Given the description of an element on the screen output the (x, y) to click on. 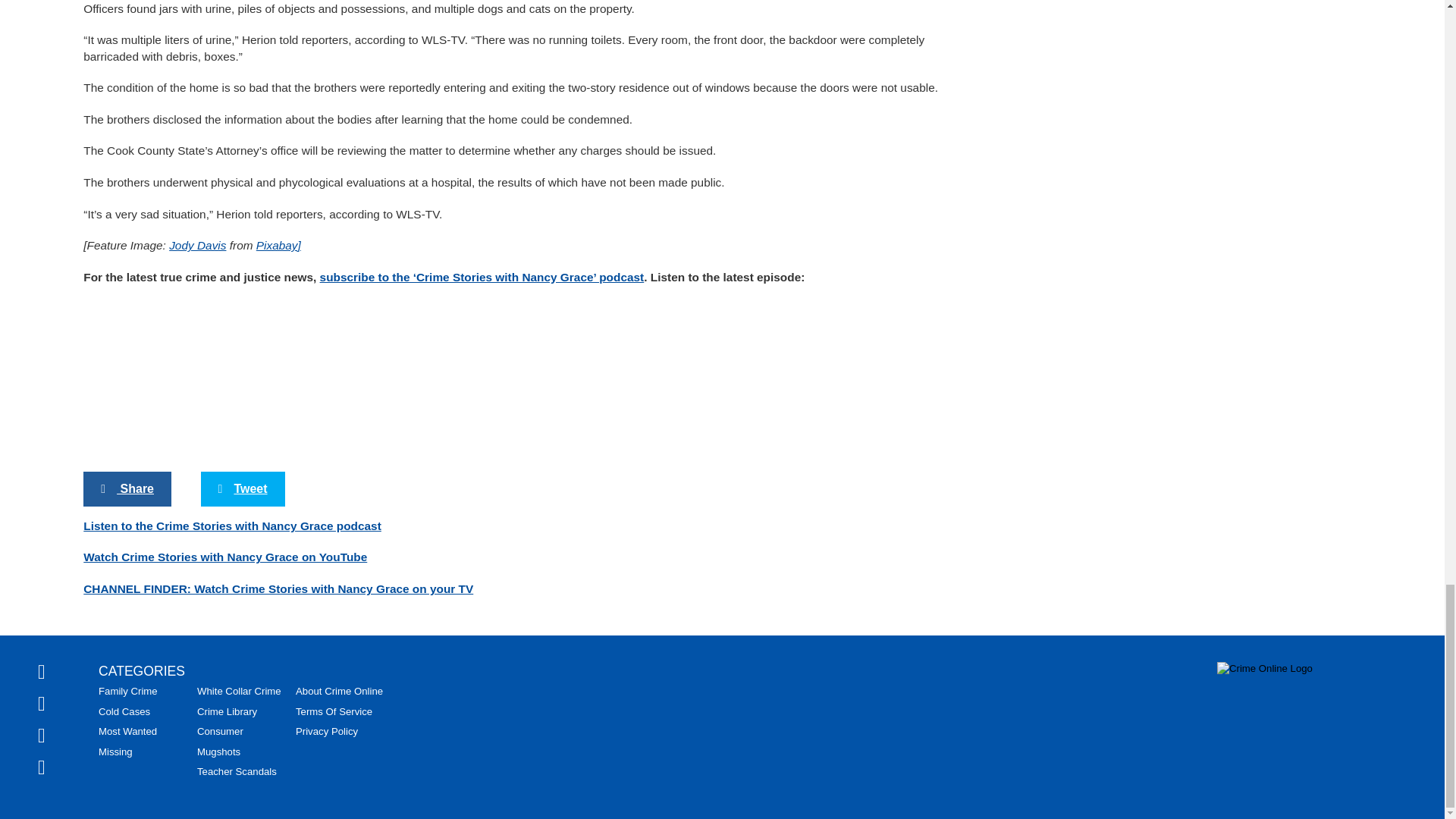
Jody Davis (196, 245)
Listen to the Crime Stories with Nancy Grace podcast (231, 525)
Watch Crime Stories with Nancy Grace on YouTube (224, 556)
Share (126, 488)
Tweet (242, 488)
